Given the description of an element on the screen output the (x, y) to click on. 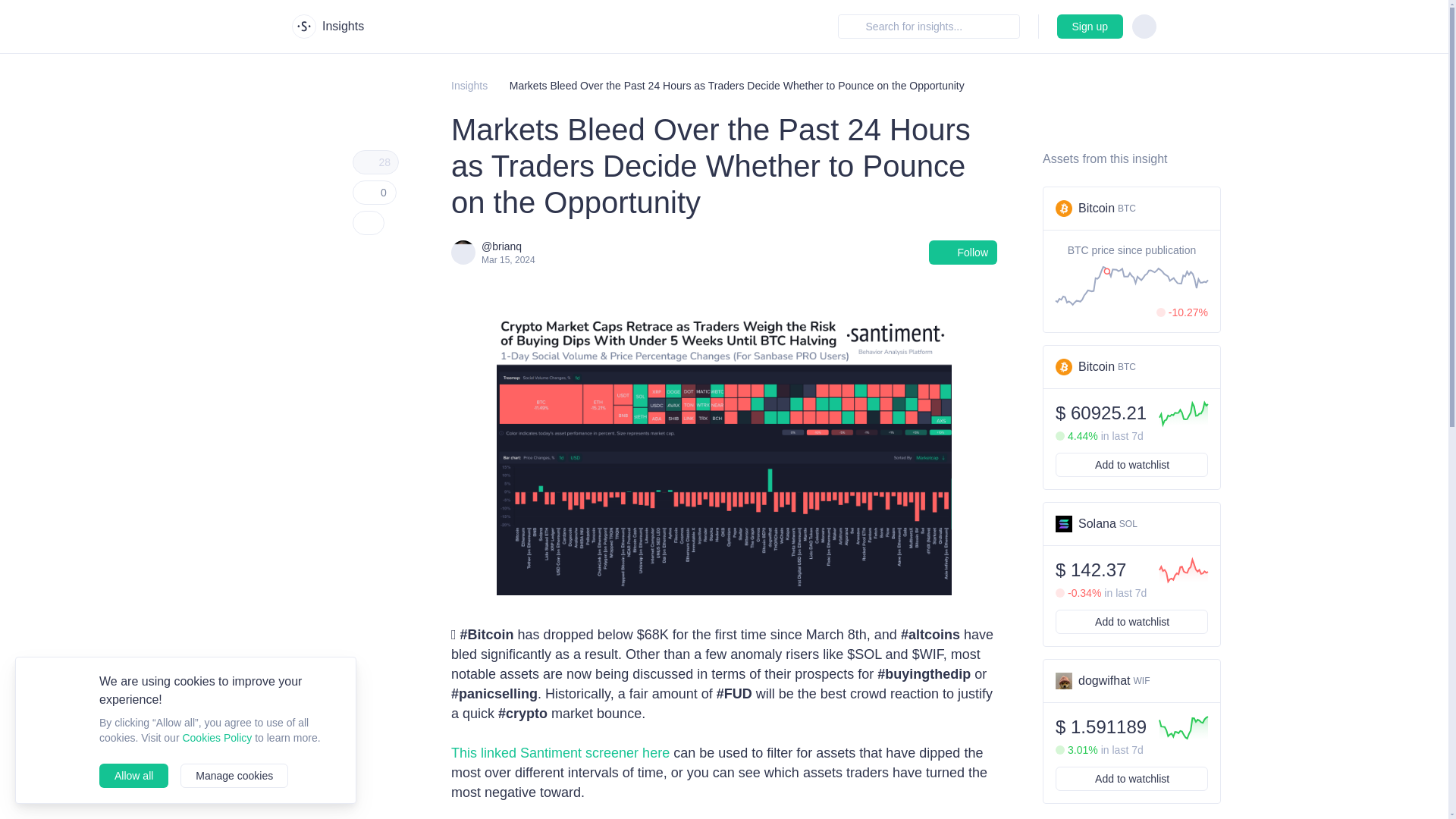
Insights (1131, 208)
Cookies Policy (469, 85)
Allow all (216, 737)
0 (133, 775)
Follow (374, 192)
Insights (1131, 524)
This linked Santiment screener here (962, 252)
